Given the description of an element on the screen output the (x, y) to click on. 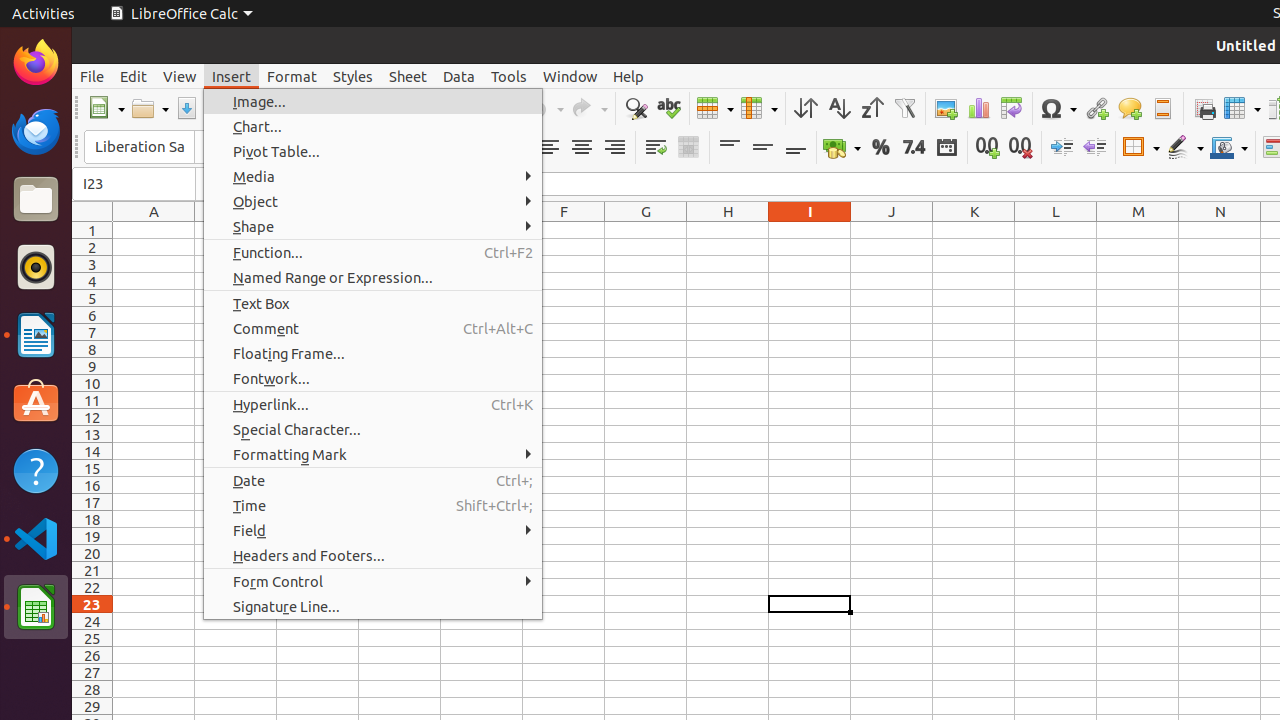
Trash Element type: label (133, 191)
Image Element type: push-button (945, 108)
Sort Ascending Element type: push-button (838, 108)
Object Element type: menu (373, 201)
Print Area Element type: push-button (1203, 108)
